Given the description of an element on the screen output the (x, y) to click on. 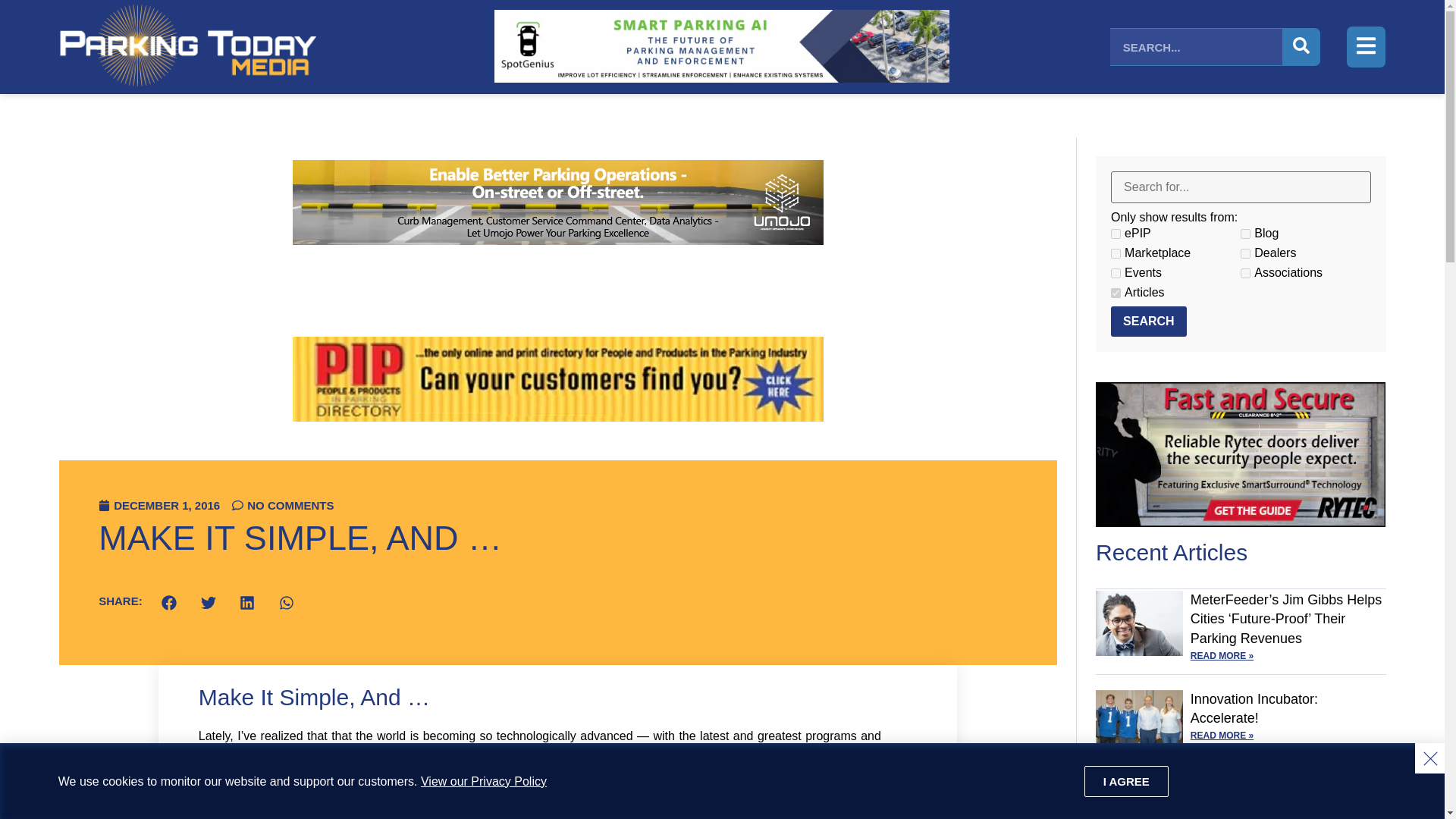
Marketplace (1115, 253)
Articles (1115, 293)
Search (1148, 321)
Blog (1245, 234)
NO COMMENTS (282, 505)
Associations (1245, 273)
ePIP (1115, 234)
Events (1115, 273)
Search (1148, 321)
